Given the description of an element on the screen output the (x, y) to click on. 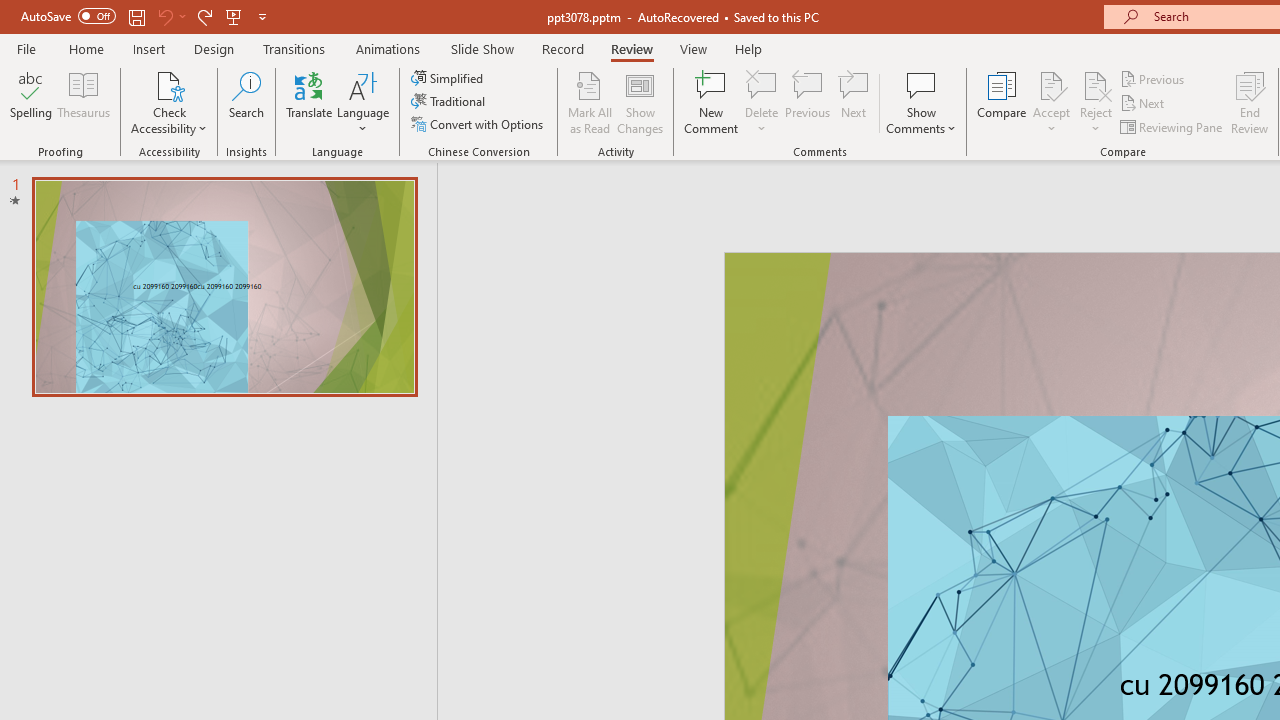
Translate (309, 102)
End Review (1249, 102)
Compare (1002, 102)
Next (1144, 103)
Simplified (449, 78)
Reject Change (1096, 84)
